Given the description of an element on the screen output the (x, y) to click on. 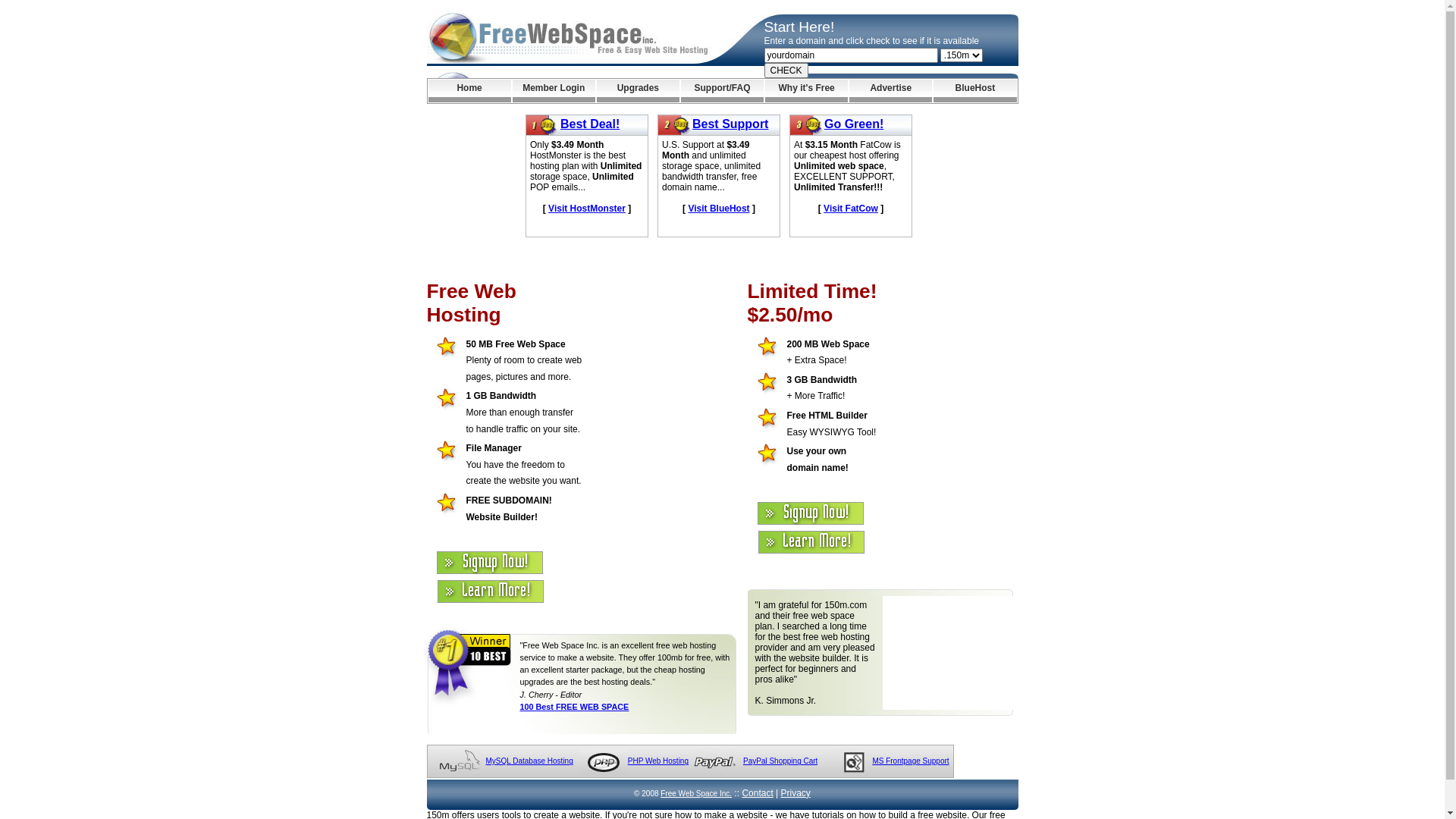
Upgrades Element type: text (637, 90)
MySQL Database Hosting Element type: text (528, 760)
Contact Element type: text (756, 792)
Privacy Element type: text (795, 792)
Support/FAQ Element type: text (721, 90)
MS Frontpage Support Element type: text (910, 760)
Free Web Space Inc. Element type: text (695, 793)
Member Login Element type: text (553, 90)
Why it's Free Element type: text (806, 90)
Home Element type: text (468, 90)
100 Best FREE WEB SPACE Element type: text (574, 706)
BlueHost Element type: text (974, 90)
Advertise Element type: text (890, 90)
PHP Web Hosting Element type: text (657, 760)
CHECK Element type: text (786, 70)
PayPal Shopping Cart Element type: text (780, 760)
